Given the description of an element on the screen output the (x, y) to click on. 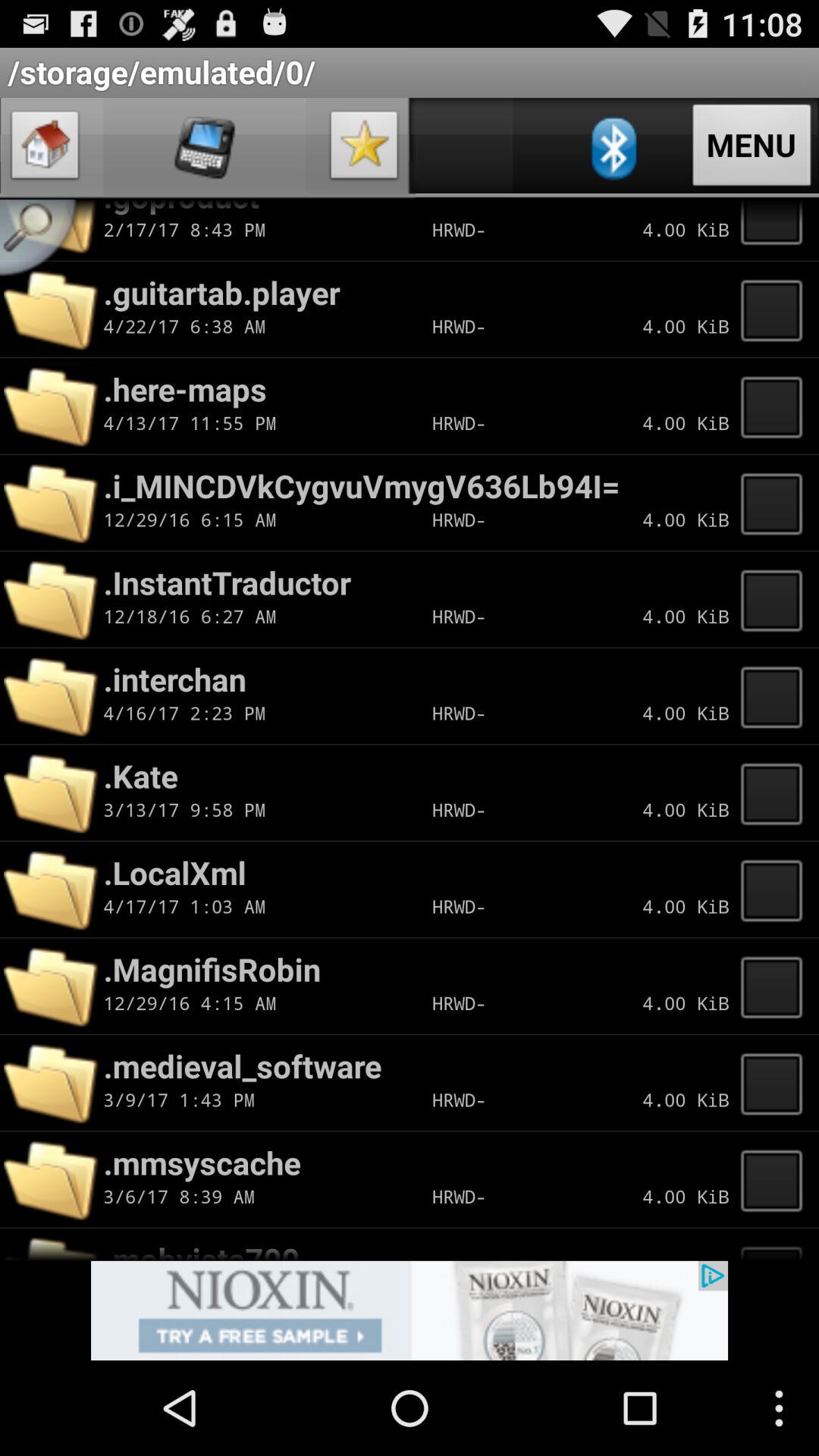
check box for files in drive (776, 985)
